Given the description of an element on the screen output the (x, y) to click on. 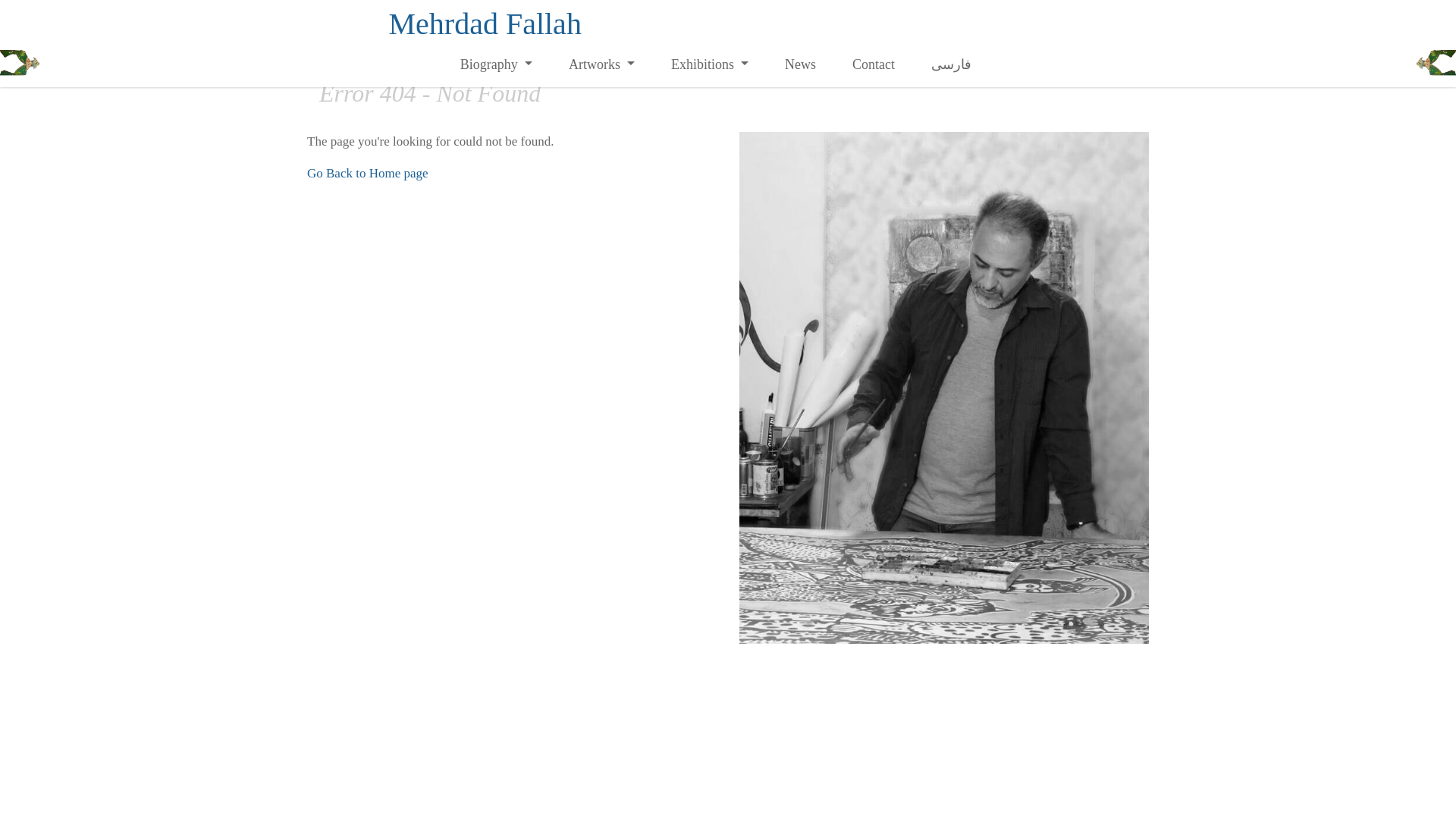
News (800, 64)
Artworks (601, 64)
Exhibitions (709, 64)
Mehrdad Fallah Contemprary Artist (484, 23)
Contact (873, 64)
Mehrdad Fallah (484, 23)
Go Back to Home page (367, 173)
Biography (496, 64)
